Given the description of an element on the screen output the (x, y) to click on. 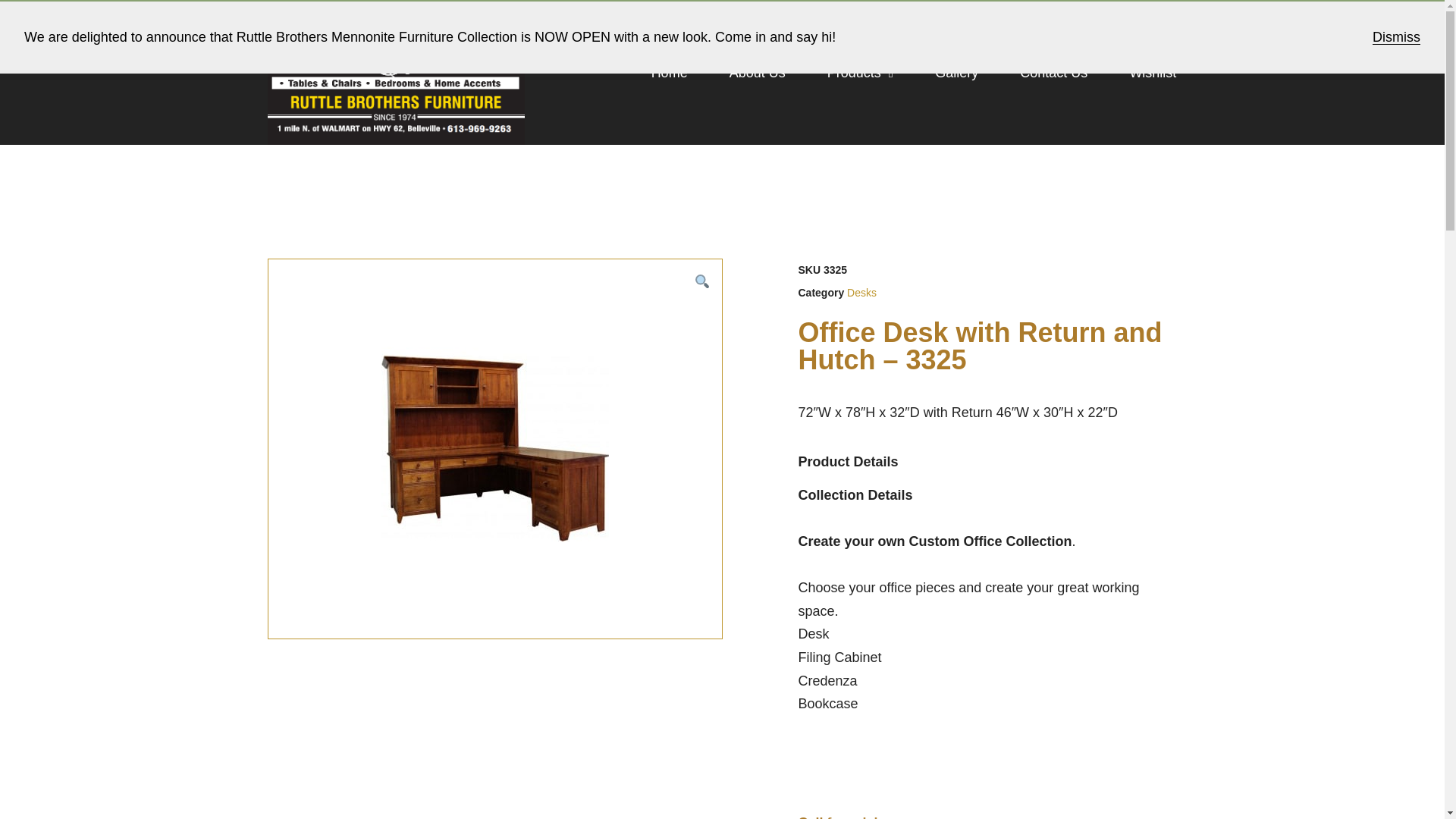
About Us (757, 72)
logo2 (395, 72)
Home (668, 72)
Products (860, 72)
